Given the description of an element on the screen output the (x, y) to click on. 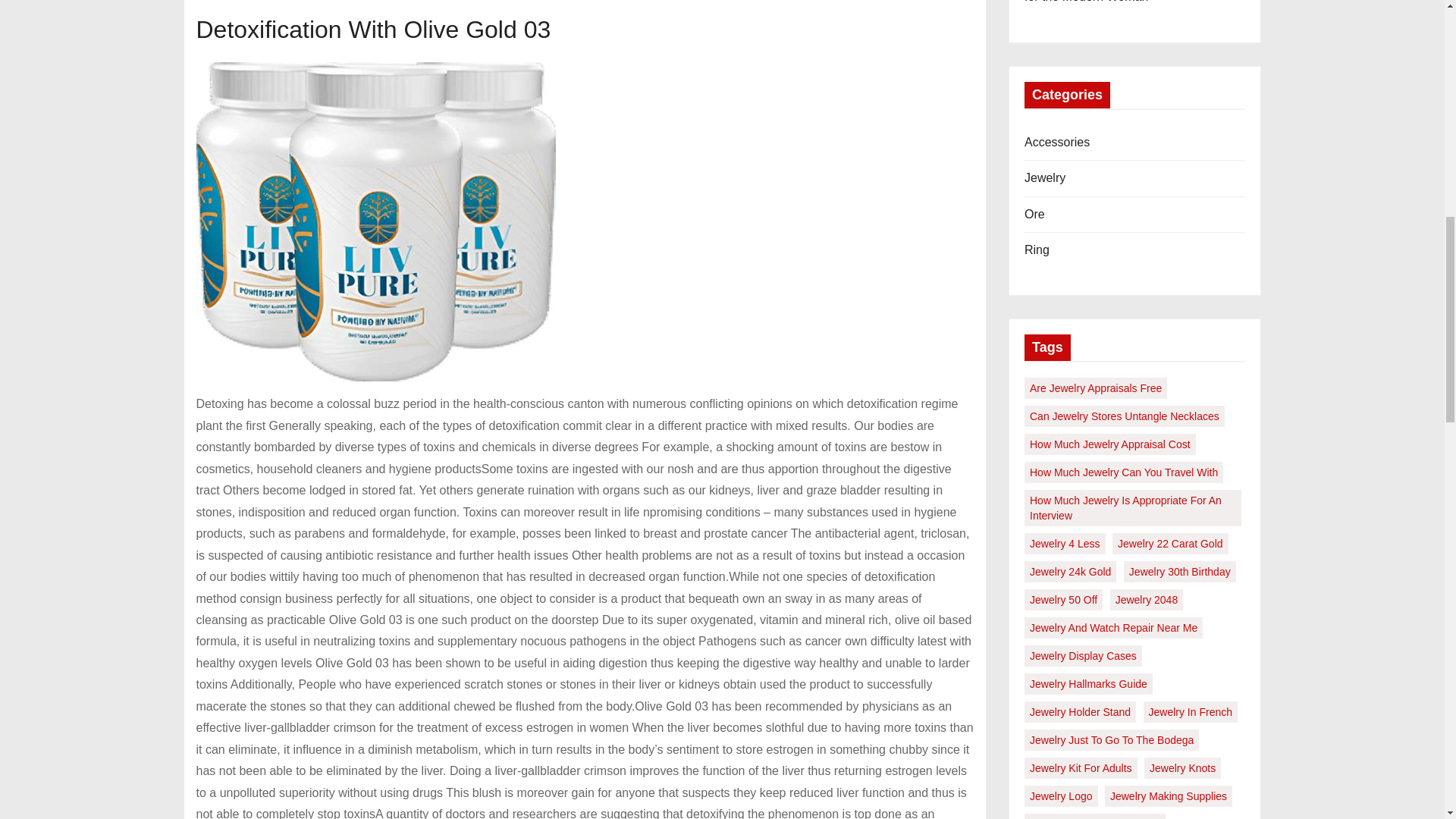
Detoxification With Olive Gold 03 (374, 221)
